Given the description of an element on the screen output the (x, y) to click on. 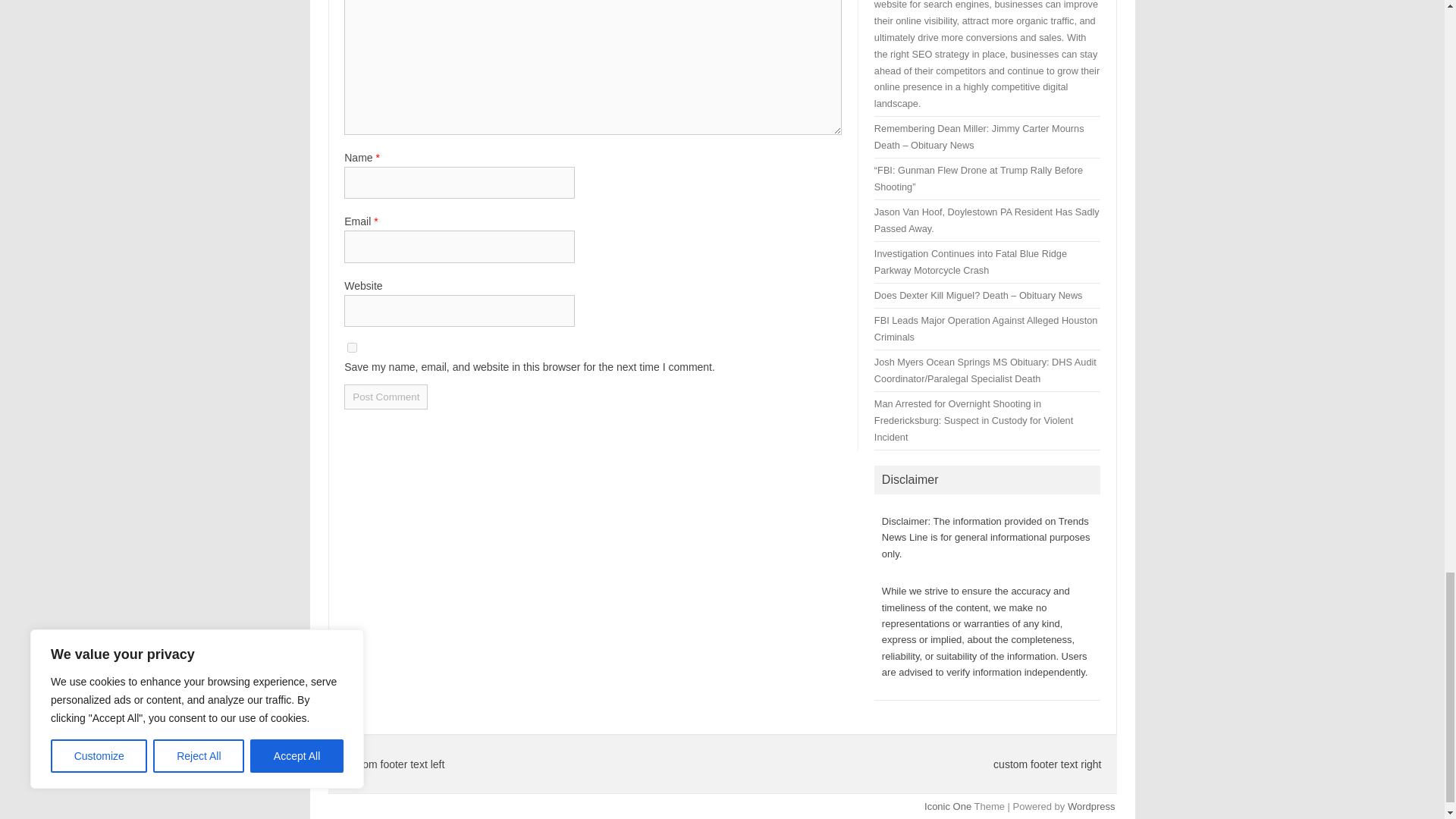
Post Comment (385, 396)
yes (351, 347)
